Given the description of an element on the screen output the (x, y) to click on. 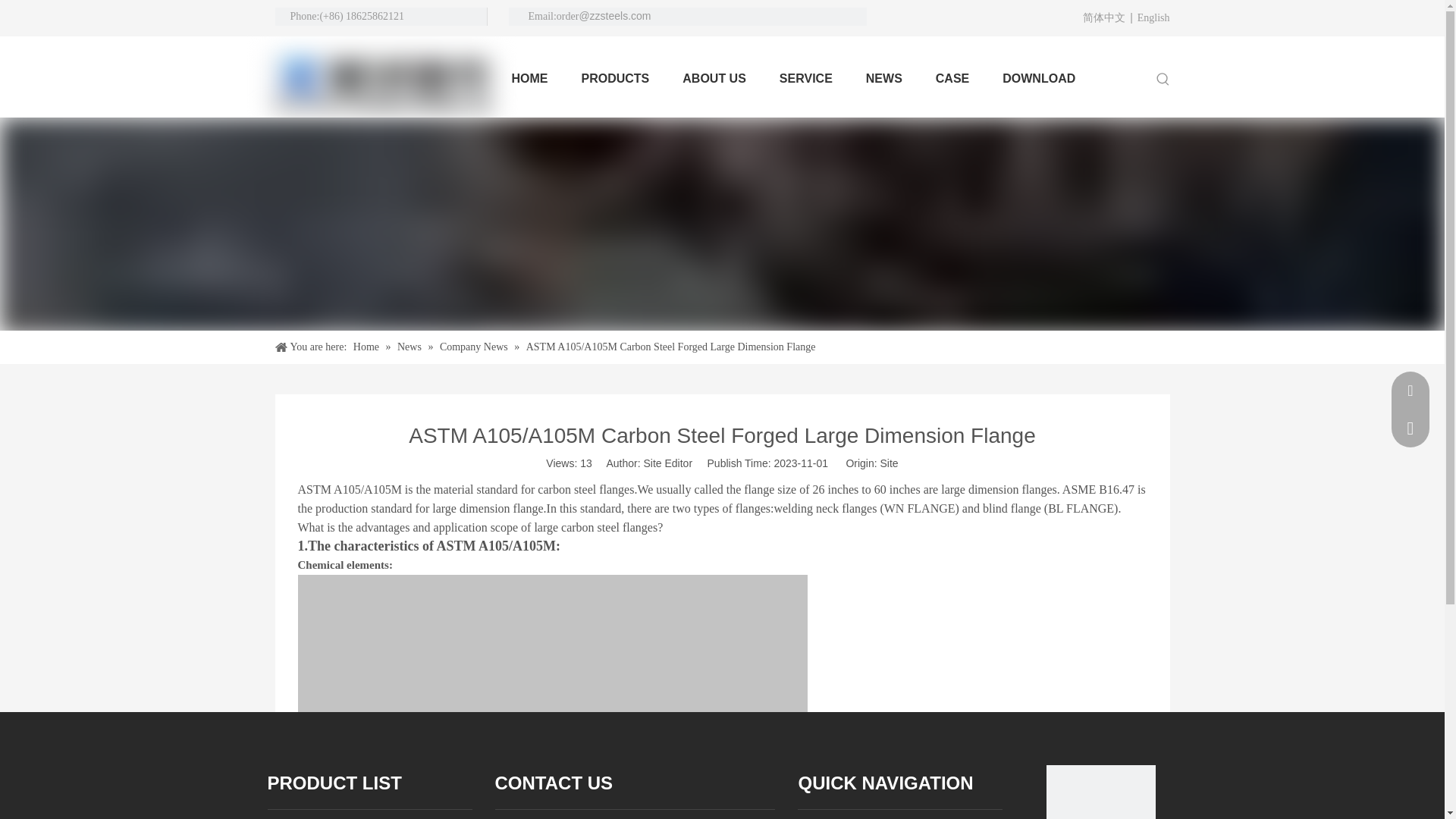
HOME (528, 78)
PRODUCTS (614, 78)
DOWNLOAD (1038, 78)
ABOUT US (714, 78)
mA (1101, 791)
Shanghai Zhucheng Pipe Fittings Manufacturing Co Ltd. (380, 83)
NEWS (884, 78)
CASE (952, 78)
SERVICE (805, 78)
English (1153, 18)
